Given the description of an element on the screen output the (x, y) to click on. 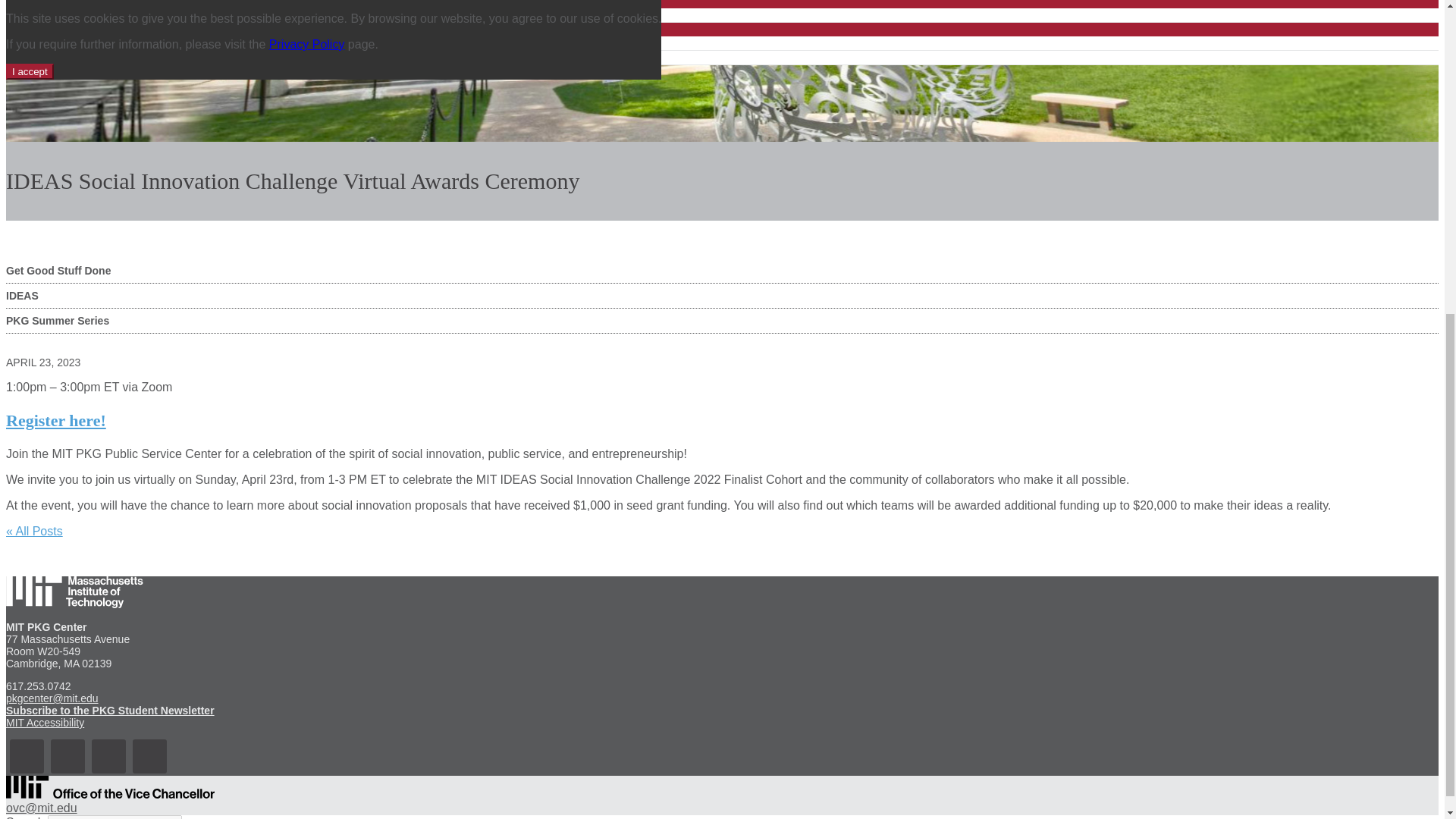
Media Mentions (118, 15)
BLOG (71, 8)
Donate (96, 57)
Support Us (107, 43)
SUPPORT (74, 29)
